Given the description of an element on the screen output the (x, y) to click on. 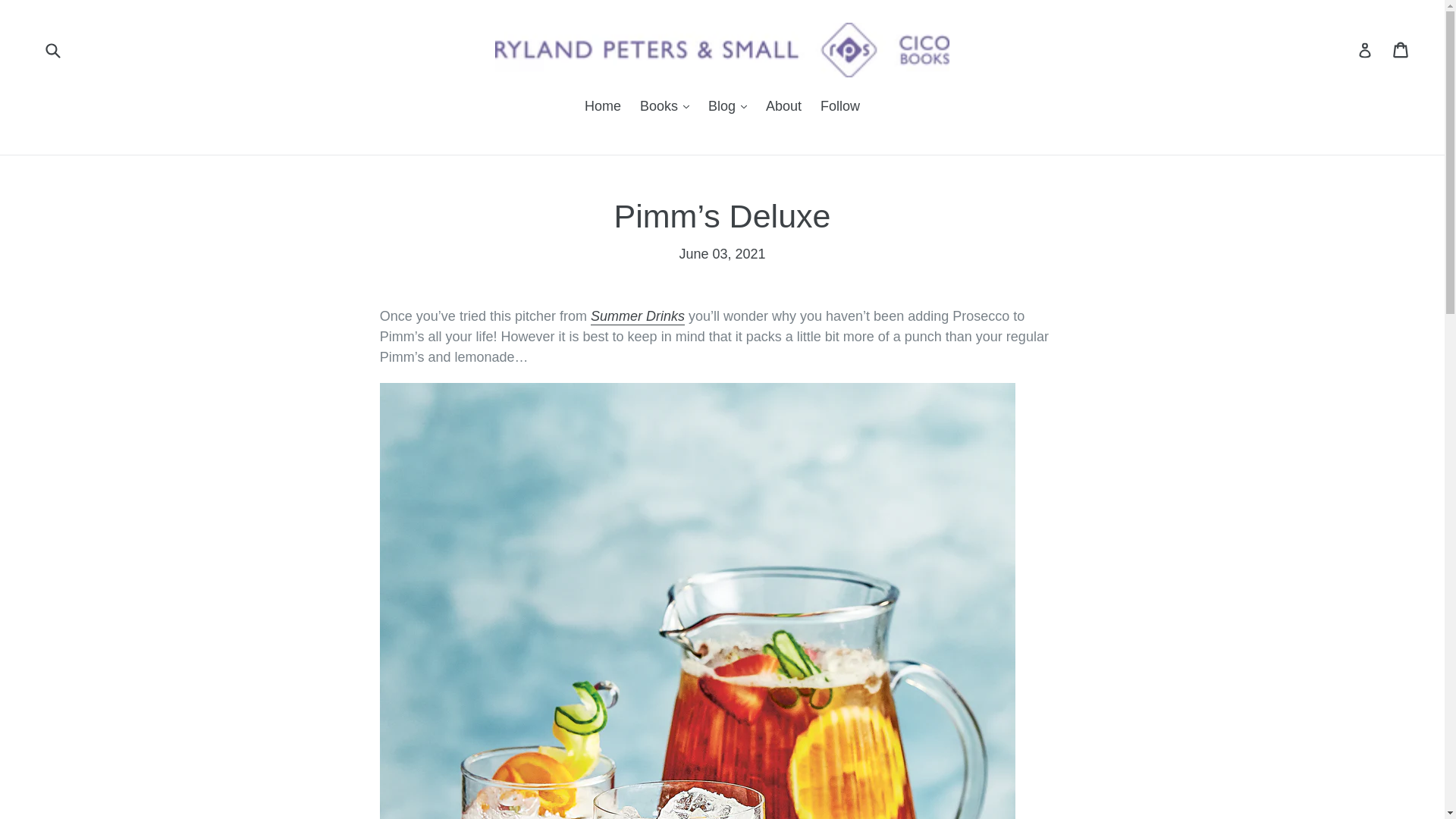
Summer Drinks (637, 316)
Home (602, 107)
Submit (52, 49)
Log in (1401, 49)
